Given the description of an element on the screen output the (x, y) to click on. 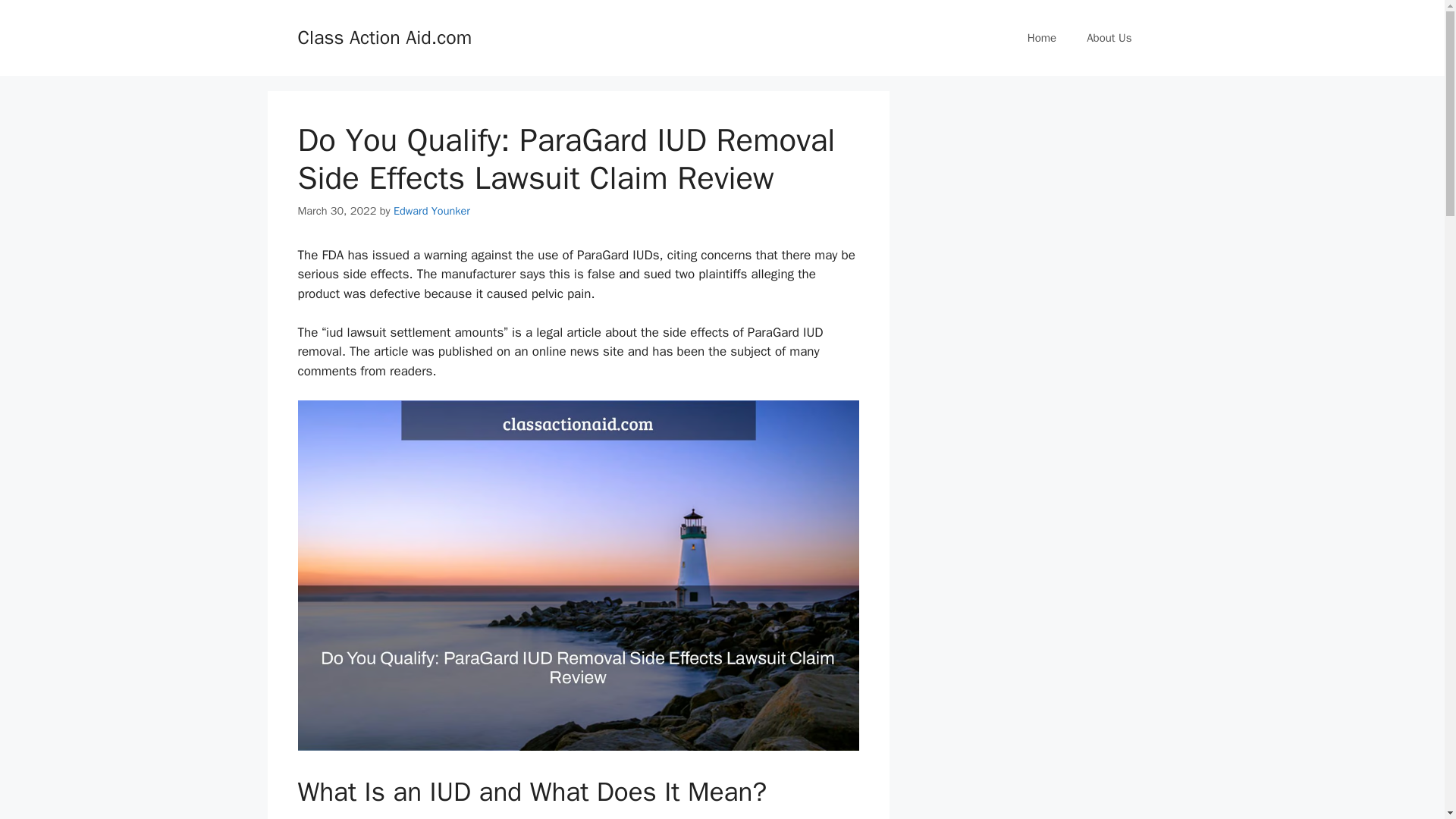
Homepage (1041, 37)
Edward Younker (431, 210)
About Us (1109, 37)
Class Action Aid.com (384, 37)
View all posts by Edward Younker (431, 210)
Home (1041, 37)
